Given the description of an element on the screen output the (x, y) to click on. 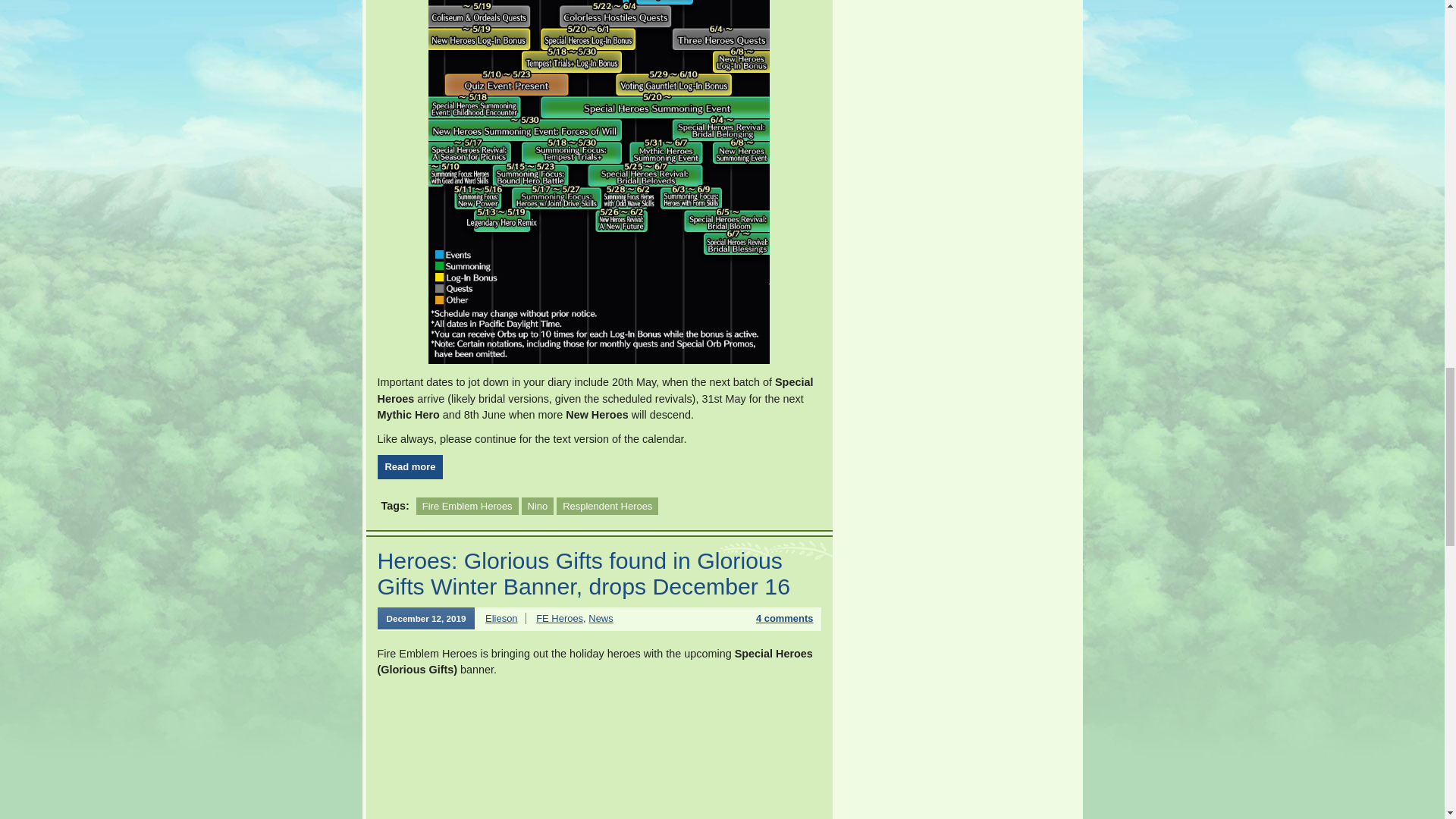
Posts by Elieson (500, 618)
